Given the description of an element on the screen output the (x, y) to click on. 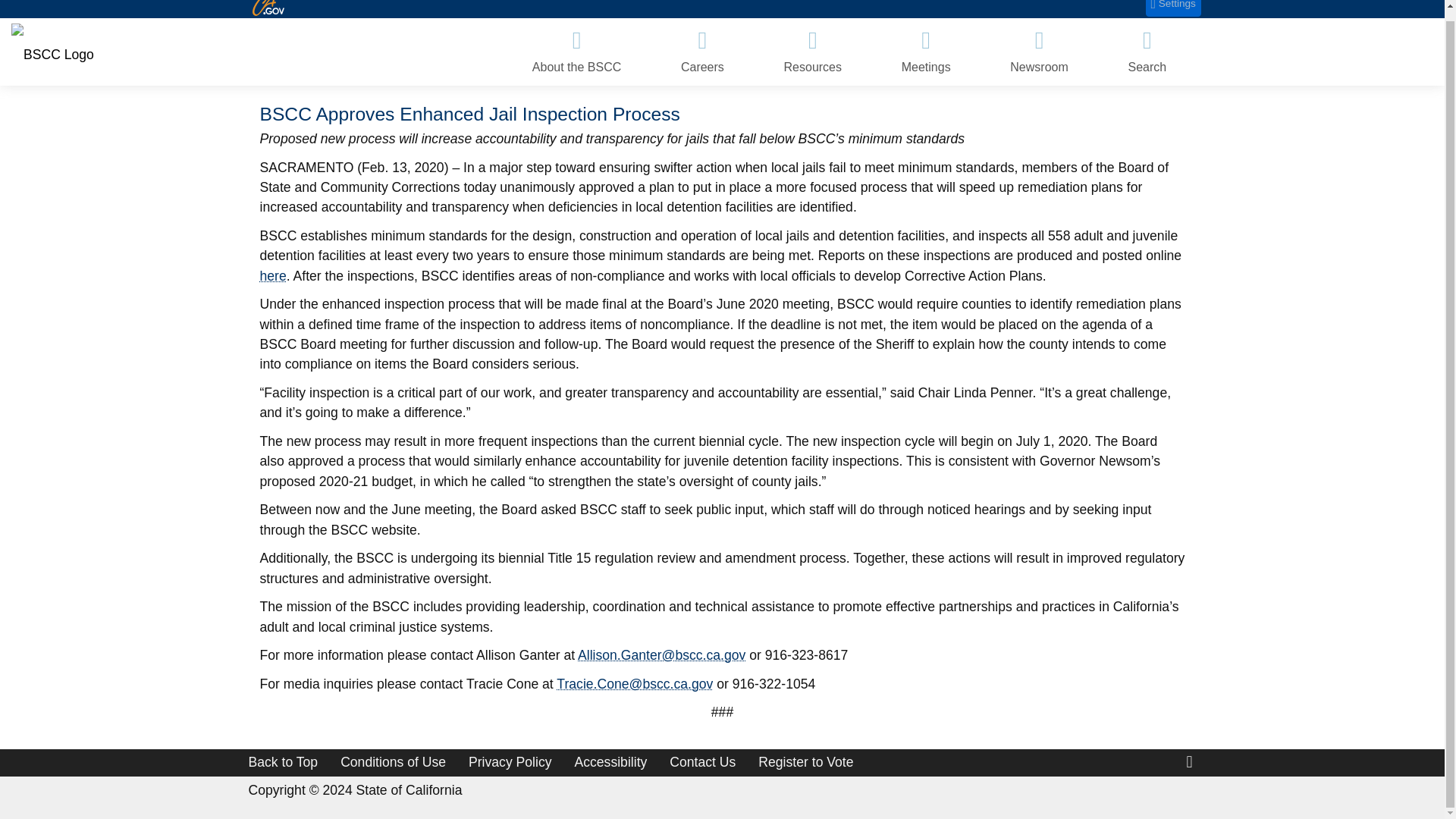
Settings (1173, 8)
Back to Top (283, 761)
Search (1146, 51)
Privacy Policy (509, 761)
Register to Vote (805, 761)
Accessibility (611, 761)
CA.gov (267, 7)
Meetings (924, 51)
Conditions of Use (392, 761)
Resources (812, 51)
